Given the description of an element on the screen output the (x, y) to click on. 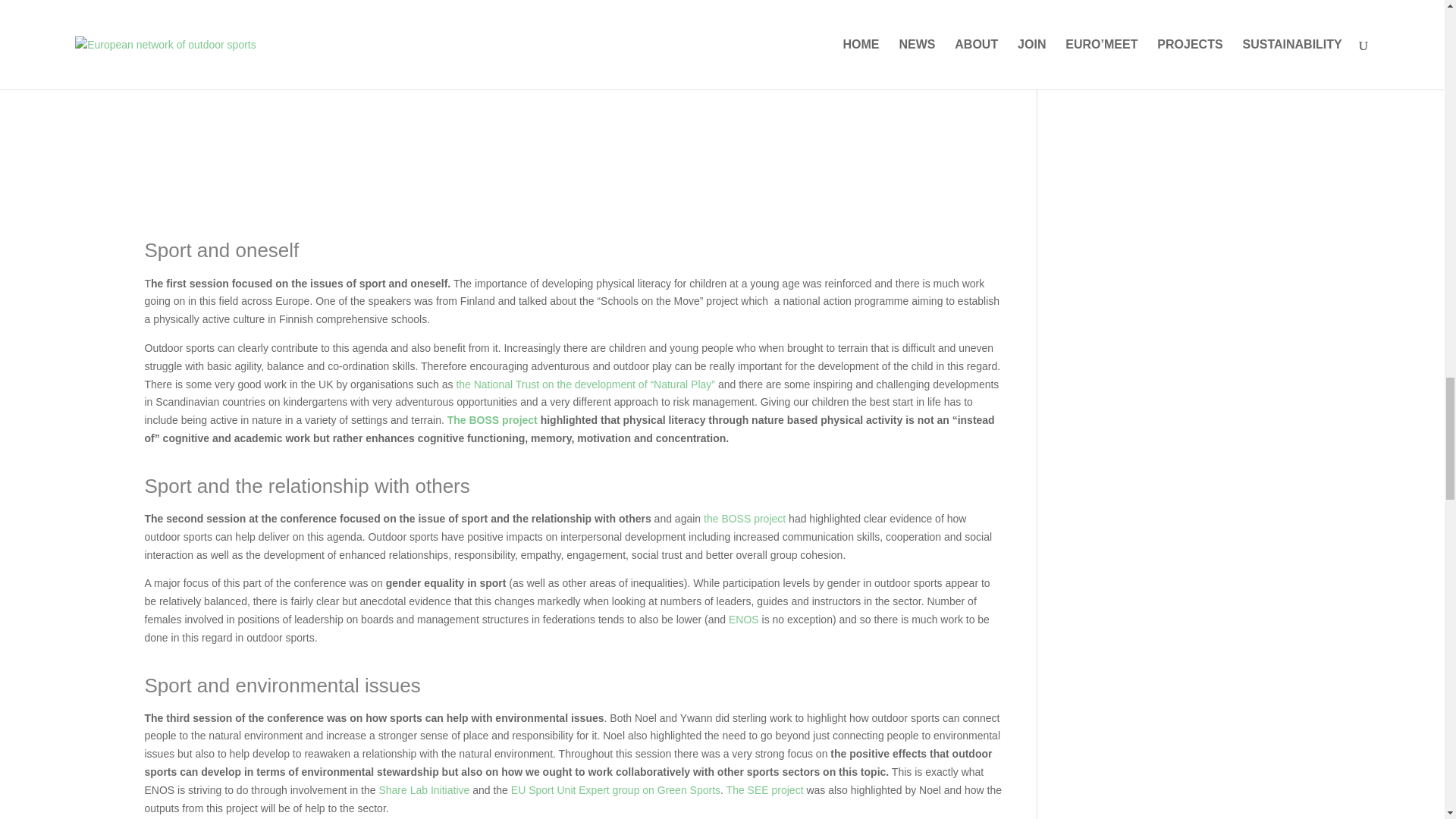
Share Lab Initiative (422, 789)
The BOSS project (491, 419)
the BOSS project (744, 518)
EU Sport Unit Expert group on Green Sports (615, 789)
The SEE project (766, 789)
ENOS (743, 619)
